Given the description of an element on the screen output the (x, y) to click on. 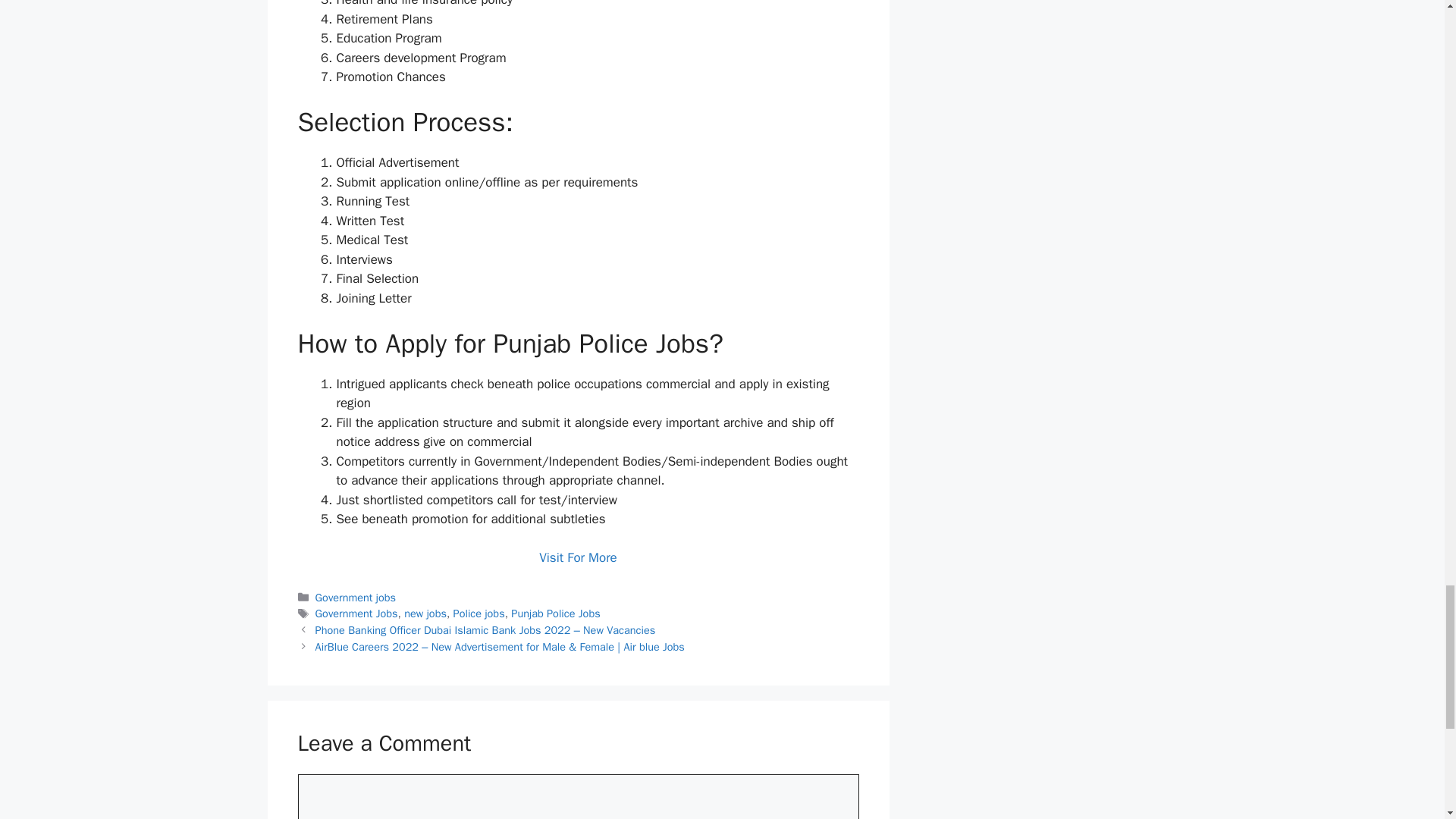
Punjab Police Jobs (555, 612)
Visit For More (577, 557)
new jobs (425, 612)
Government Jobs (356, 612)
Police jobs (478, 612)
Government jobs (355, 597)
